Given the description of an element on the screen output the (x, y) to click on. 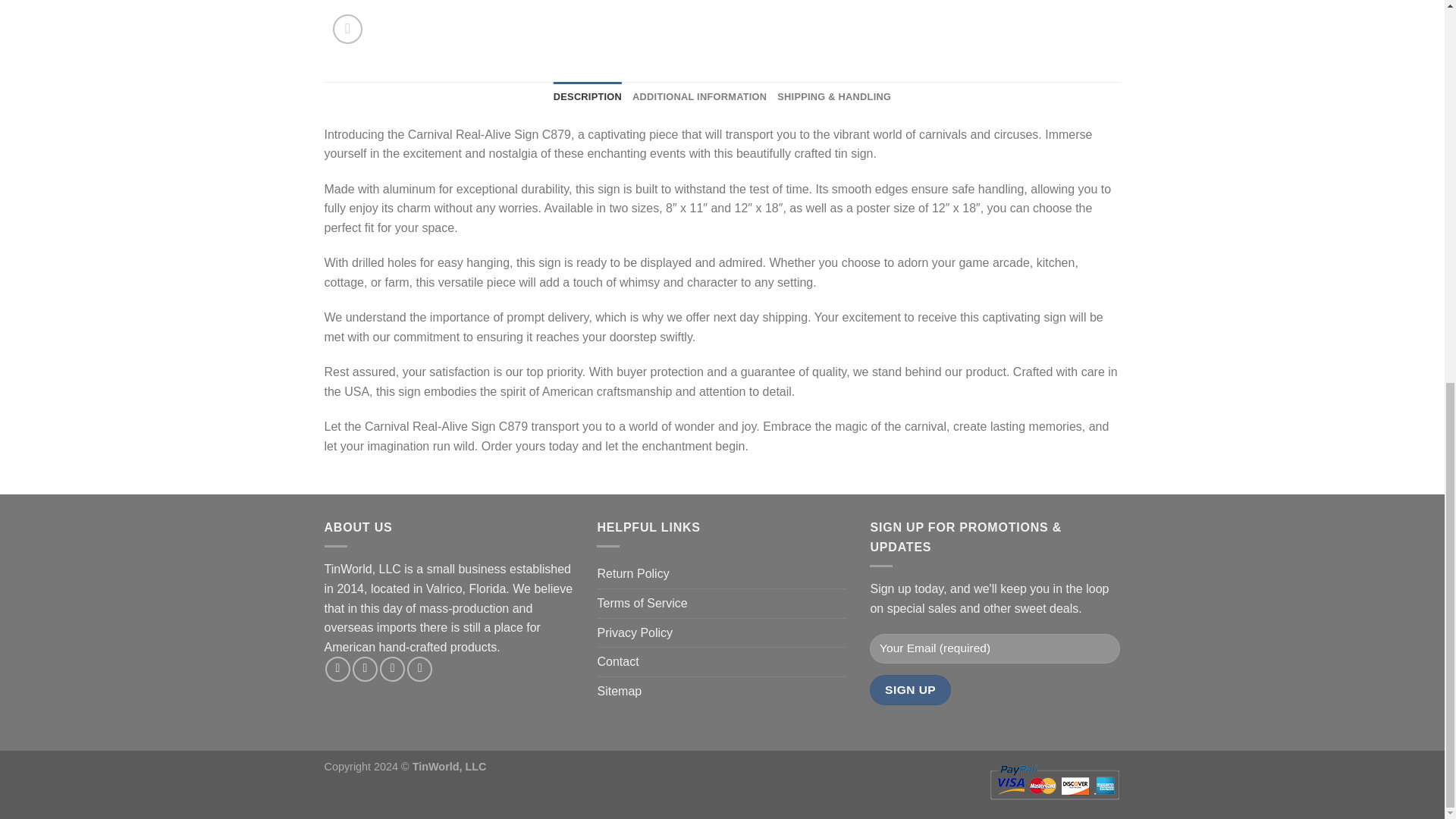
Sign Up (909, 689)
Send us an email (419, 668)
Follow on Instagram (364, 668)
Follow on Twitter (392, 668)
Zoom (347, 29)
Follow on Facebook (337, 668)
